Given the description of an element on the screen output the (x, y) to click on. 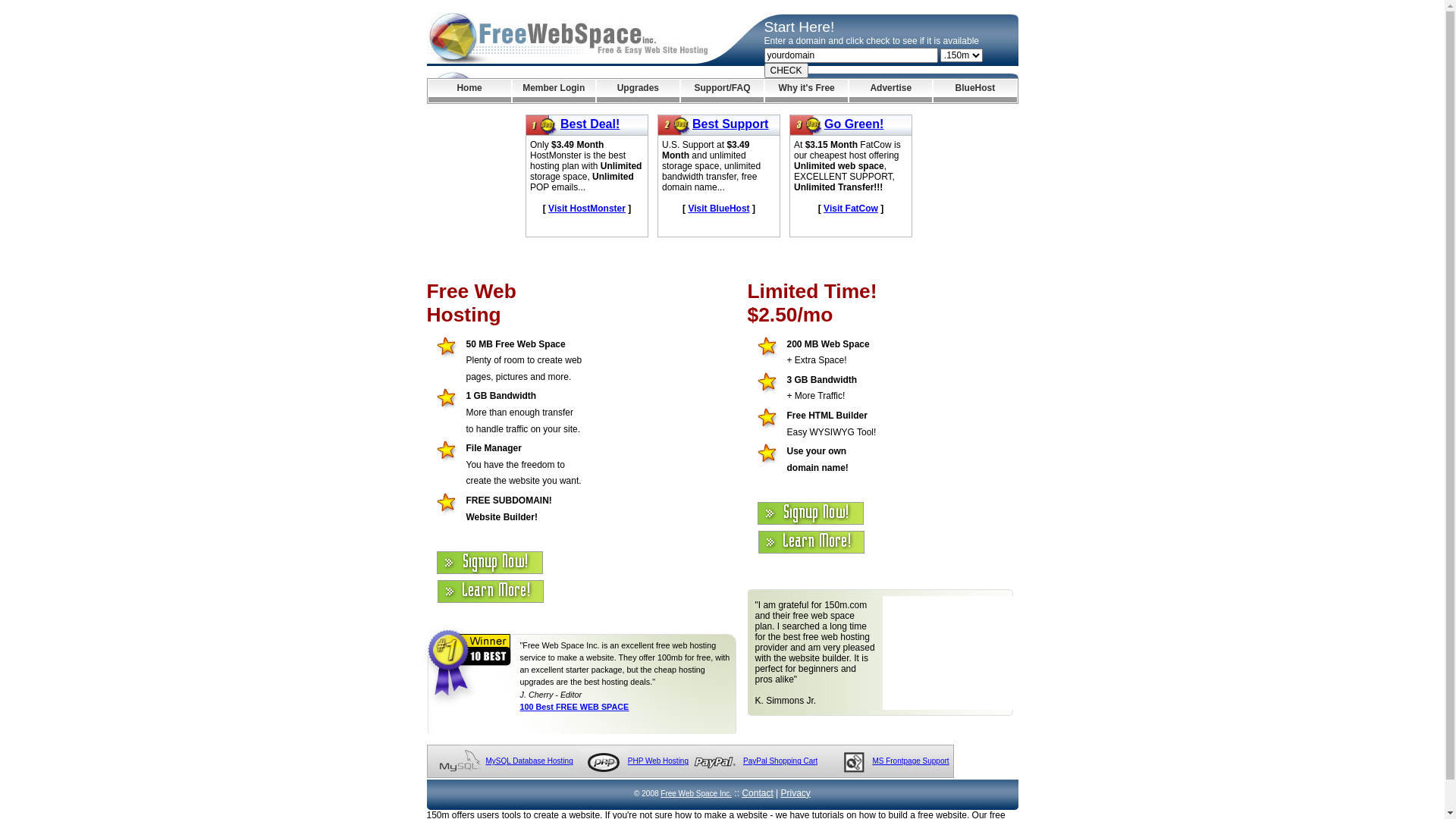
Why it's Free Element type: text (806, 90)
Support/FAQ Element type: text (721, 90)
Privacy Element type: text (795, 792)
PayPal Shopping Cart Element type: text (780, 760)
BlueHost Element type: text (974, 90)
Home Element type: text (468, 90)
Advertise Element type: text (890, 90)
100 Best FREE WEB SPACE Element type: text (574, 706)
Free Web Space Inc. Element type: text (695, 793)
Contact Element type: text (756, 792)
Member Login Element type: text (553, 90)
PHP Web Hosting Element type: text (657, 760)
MySQL Database Hosting Element type: text (528, 760)
MS Frontpage Support Element type: text (910, 760)
Upgrades Element type: text (637, 90)
CHECK Element type: text (786, 70)
